Given the description of an element on the screen output the (x, y) to click on. 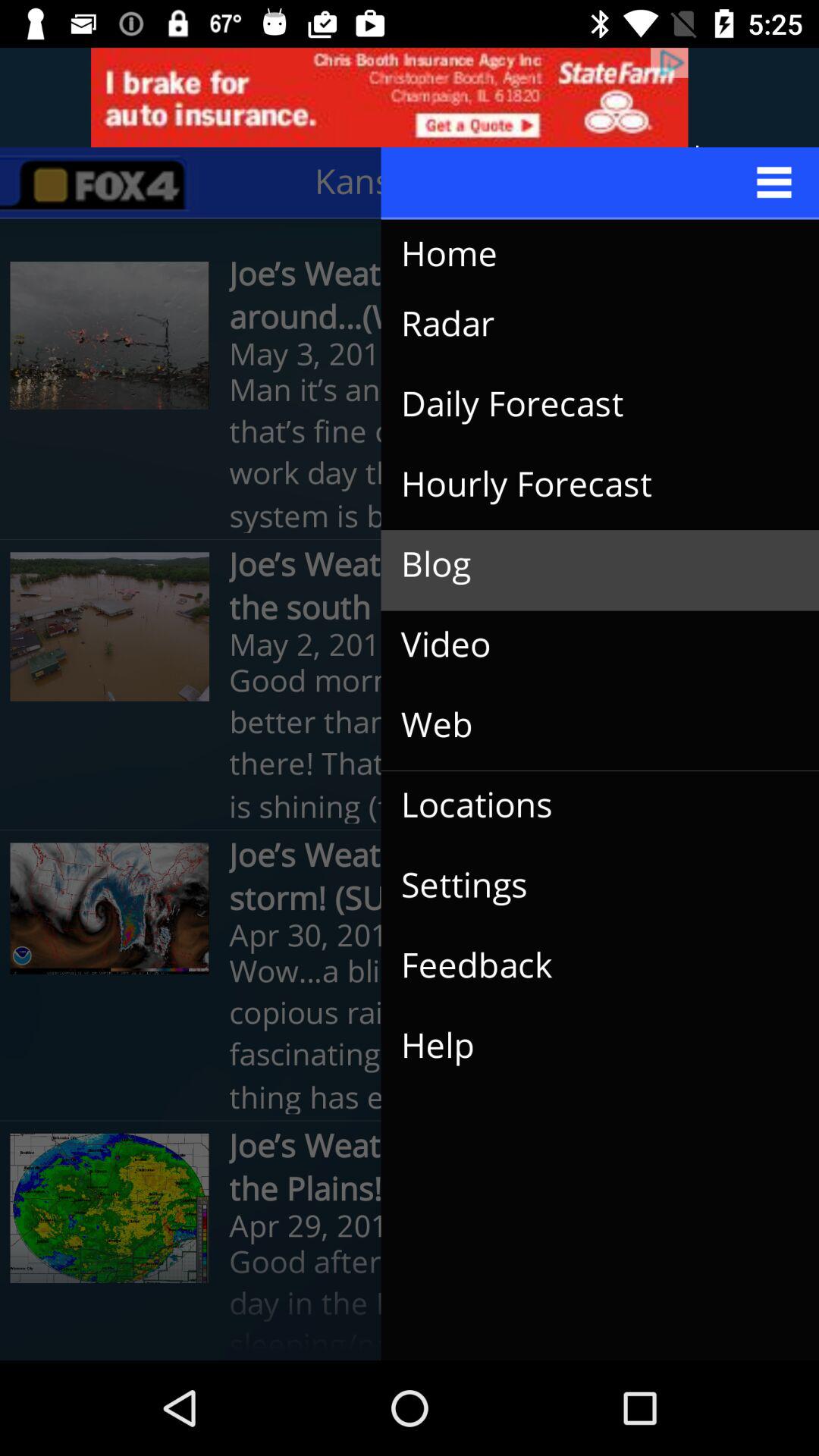
open advertisement link (409, 97)
